Given the description of an element on the screen output the (x, y) to click on. 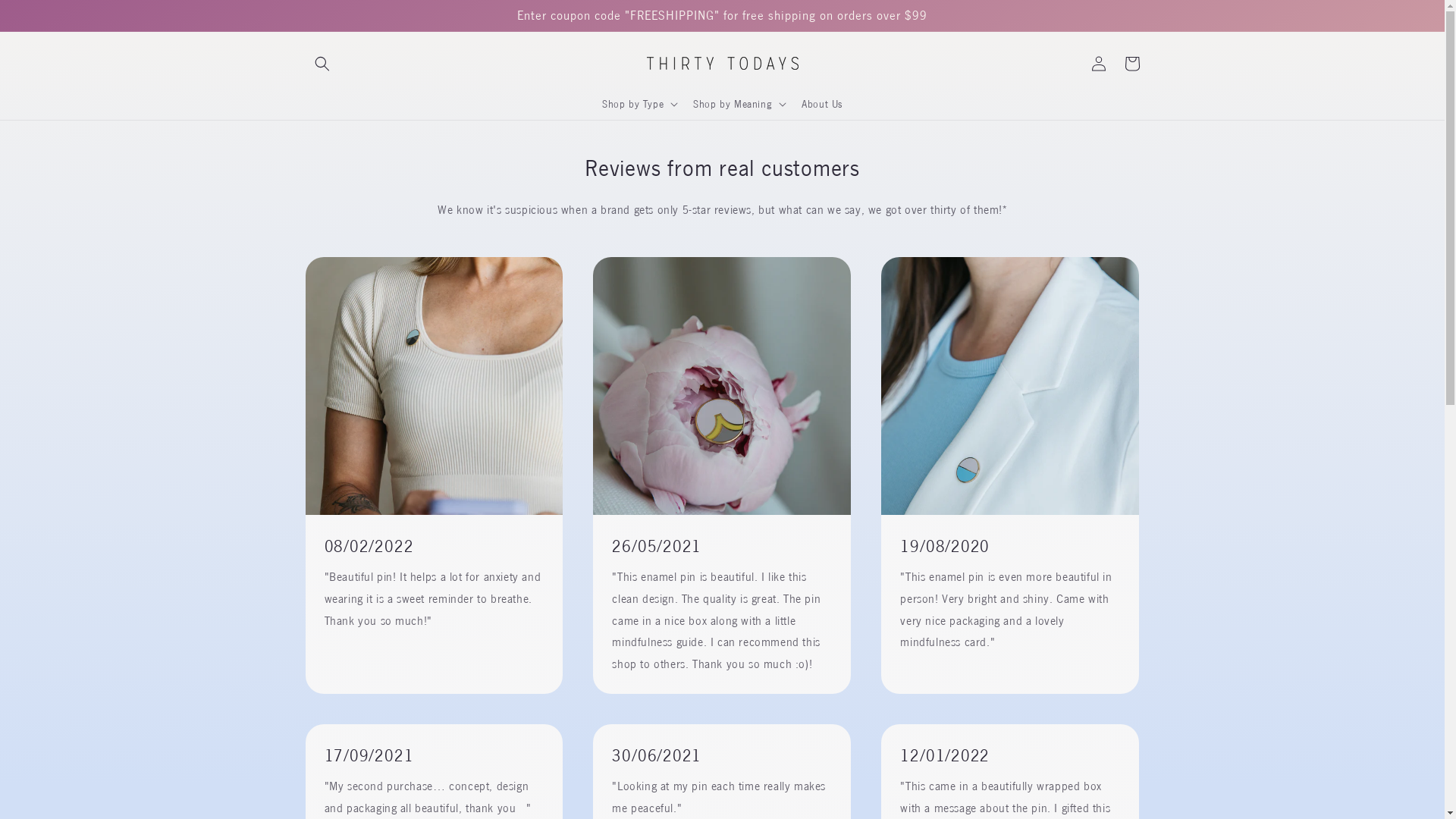
About Us Element type: text (821, 103)
Log in Element type: text (1097, 63)
Cart Element type: text (1131, 63)
